Given the description of an element on the screen output the (x, y) to click on. 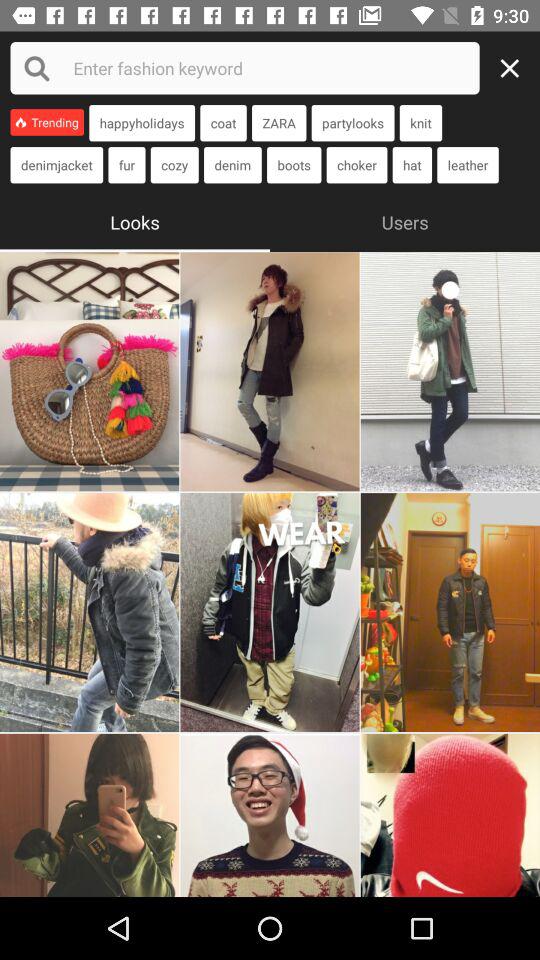
select photo (89, 612)
